Given the description of an element on the screen output the (x, y) to click on. 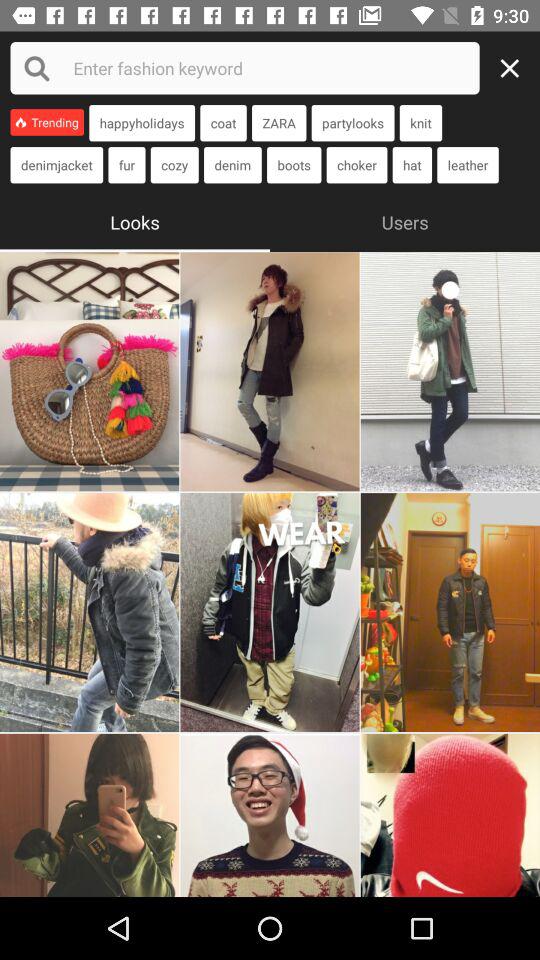
select photo (89, 612)
